Given the description of an element on the screen output the (x, y) to click on. 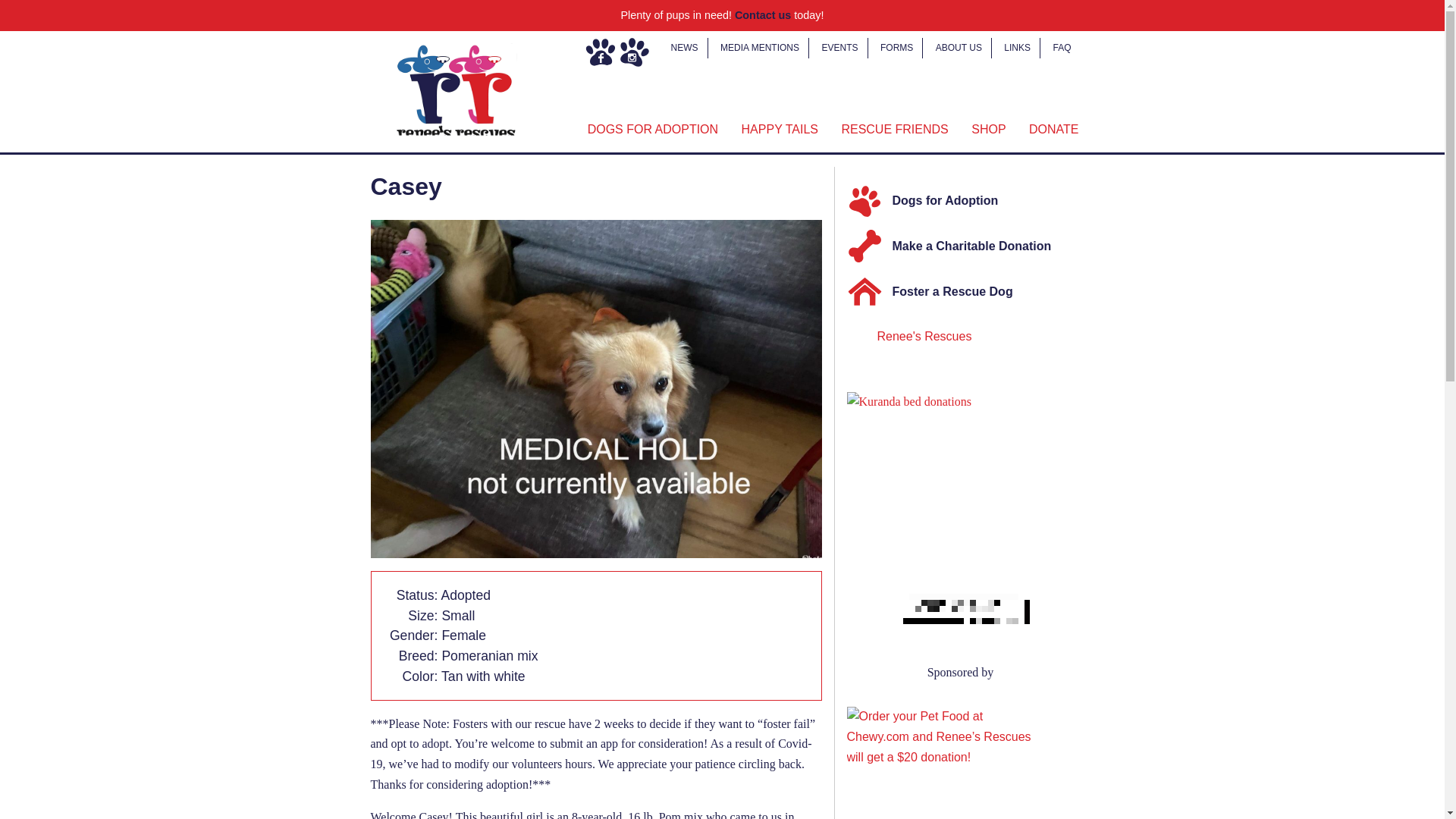
Follow us on Instagram (634, 51)
Like us on Facebook (600, 51)
Dogs for Adoption (965, 201)
Renee's Rescues (923, 336)
Follow us on Instagram (634, 51)
HAPPY TAILS (779, 130)
Like us on Facebook (600, 51)
MEDIA MENTIONS (759, 47)
Contact us (762, 15)
